Given the description of an element on the screen output the (x, y) to click on. 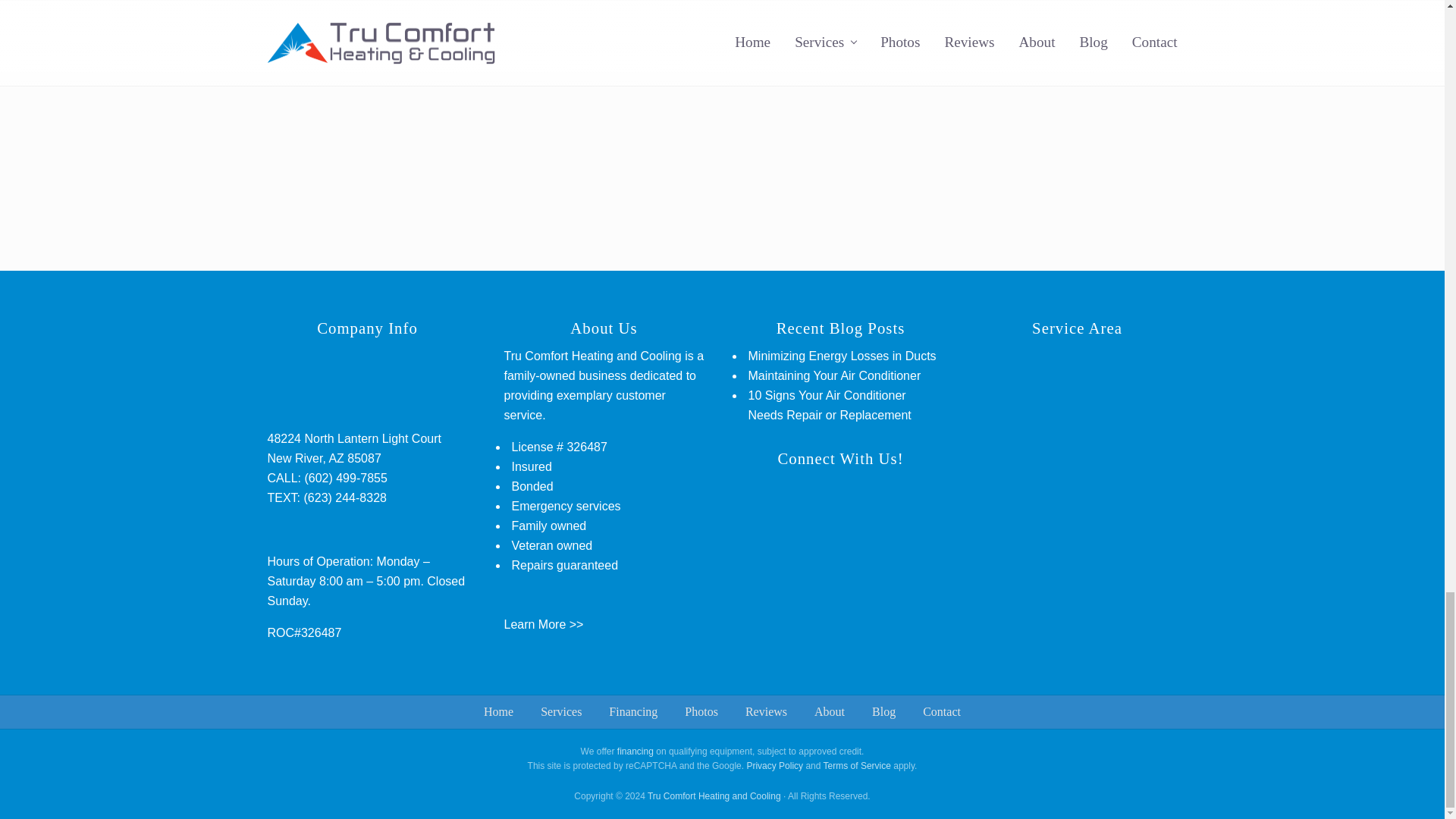
Tru Comfort Heating and Cooling (713, 796)
